Given the description of an element on the screen output the (x, y) to click on. 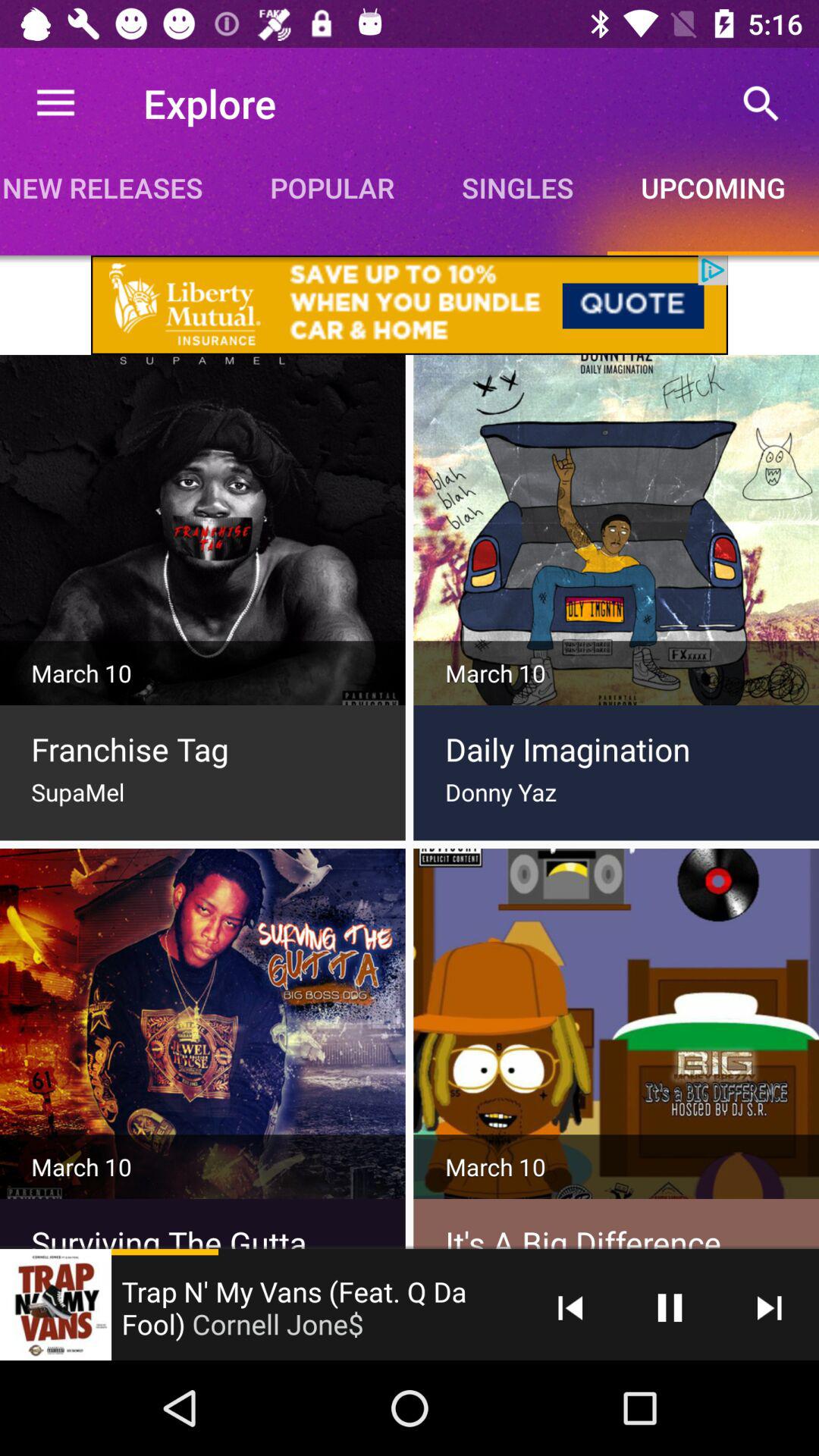
turn on the item to the left of popular (118, 187)
